Given the description of an element on the screen output the (x, y) to click on. 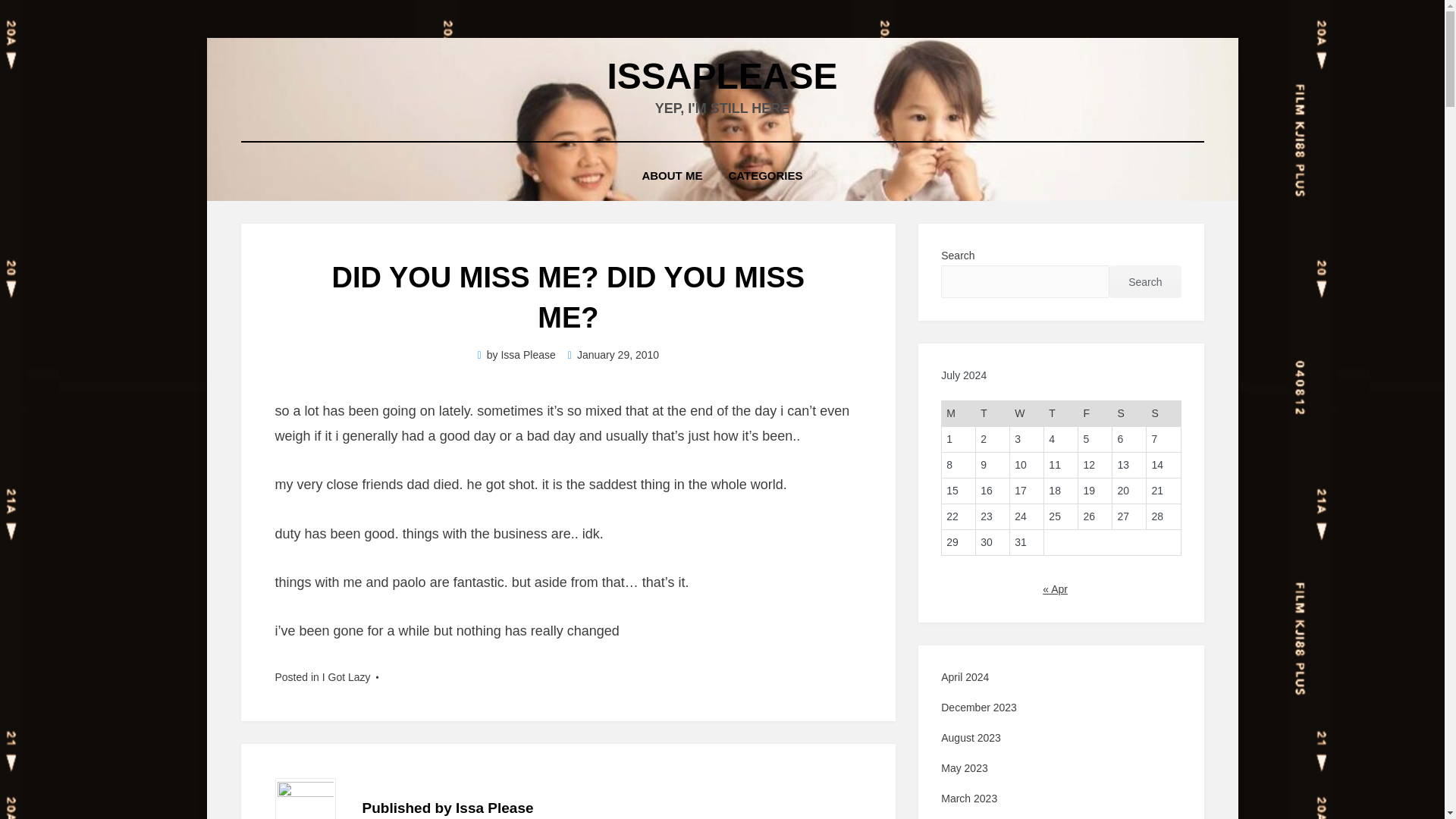
Thursday (1060, 413)
Wednesday (1026, 413)
Friday (1095, 413)
January 29, 2010 (613, 354)
Monday (958, 413)
ISSAPLEASE (722, 76)
Saturday (1129, 413)
ABOUT ME (671, 175)
I Got Lazy (346, 676)
Tuesday (992, 413)
Issa Please (527, 354)
ISSAPLEASE (722, 76)
Sunday (1163, 413)
CATEGORIES (764, 175)
